Given the description of an element on the screen output the (x, y) to click on. 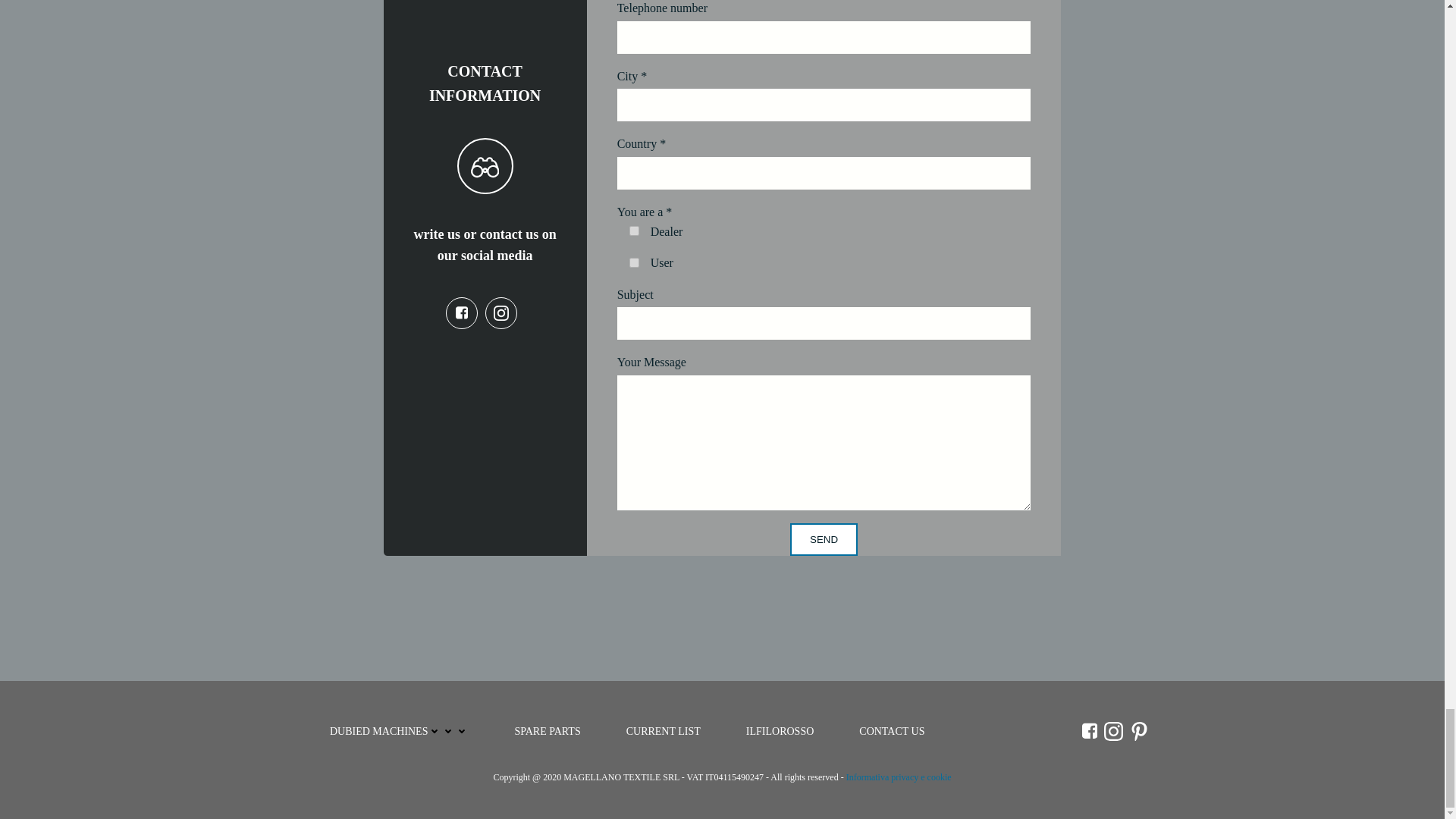
Send (823, 539)
Dealer (633, 230)
User (633, 262)
